Given the description of an element on the screen output the (x, y) to click on. 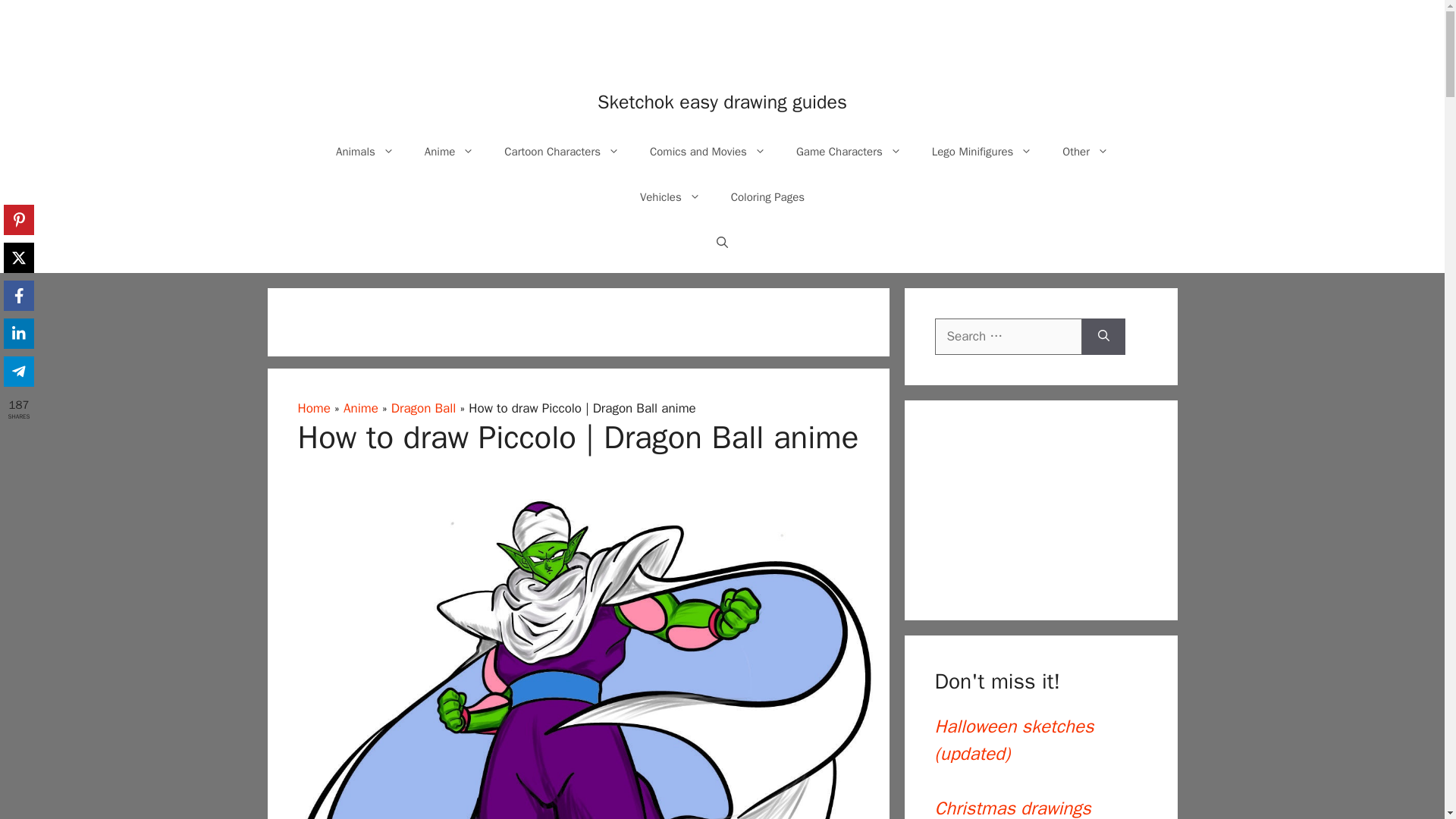
Sketchok easy drawing guides (721, 101)
Anime (449, 151)
Animals (364, 151)
Search for: (1007, 336)
